Given the description of an element on the screen output the (x, y) to click on. 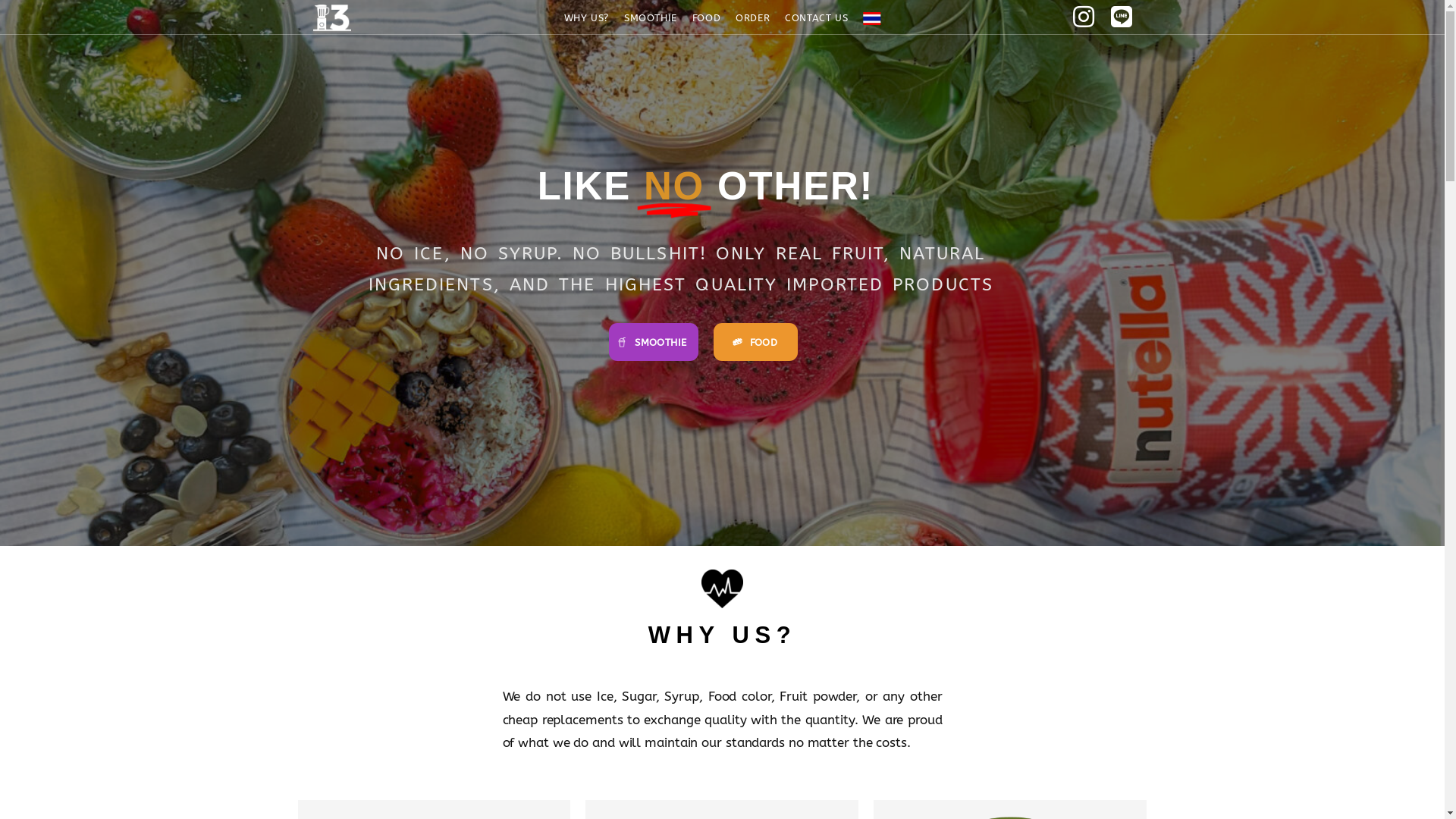
WHY US? Element type: text (586, 18)
SMOOTHIE Element type: text (652, 341)
FOOD Element type: text (706, 18)
FOOD Element type: text (754, 341)
CONTACT US Element type: text (816, 18)
SMOOTHIE Element type: text (650, 18)
ORDER Element type: text (752, 18)
